Given the description of an element on the screen output the (x, y) to click on. 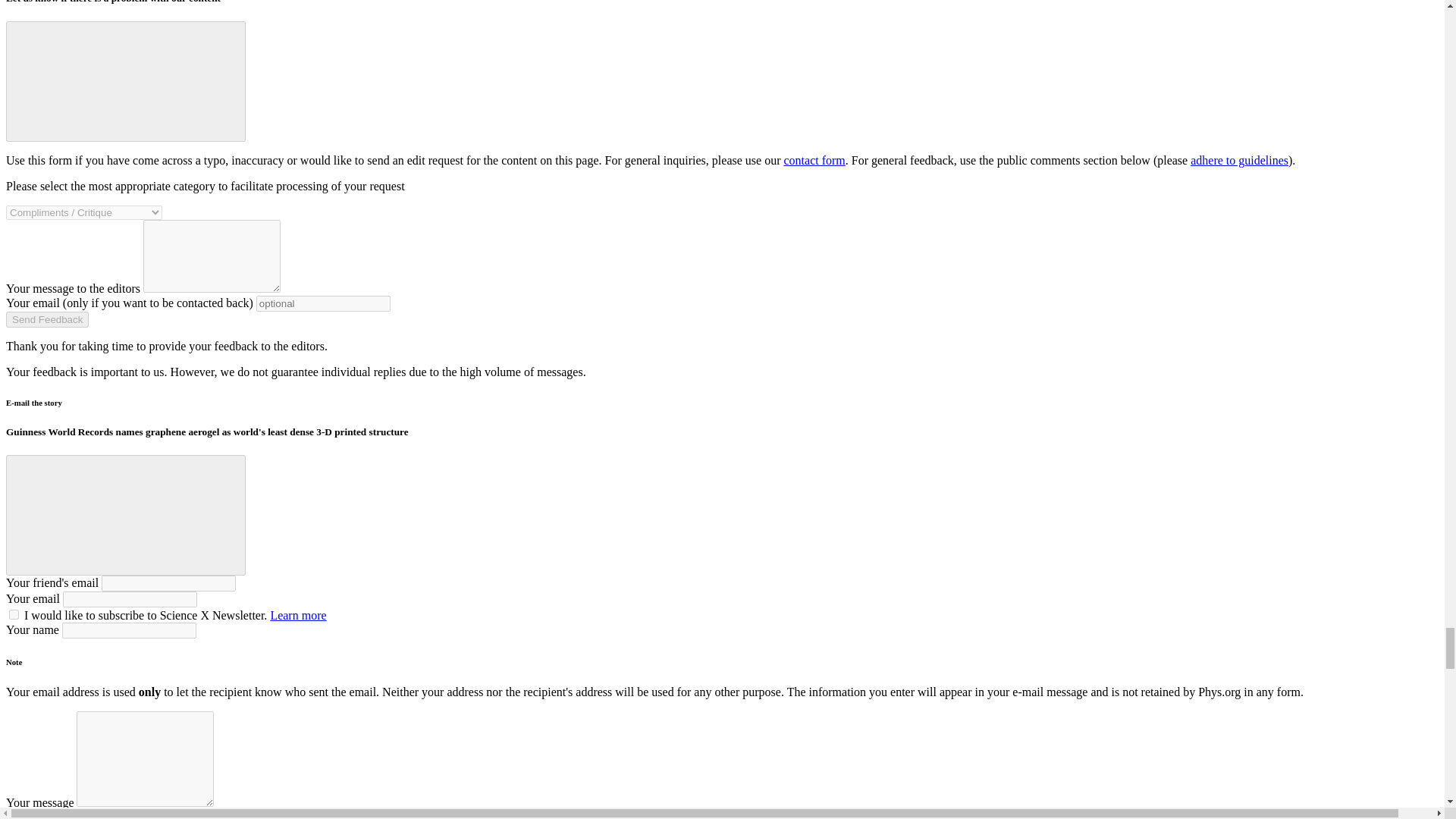
1 (13, 614)
